Given the description of an element on the screen output the (x, y) to click on. 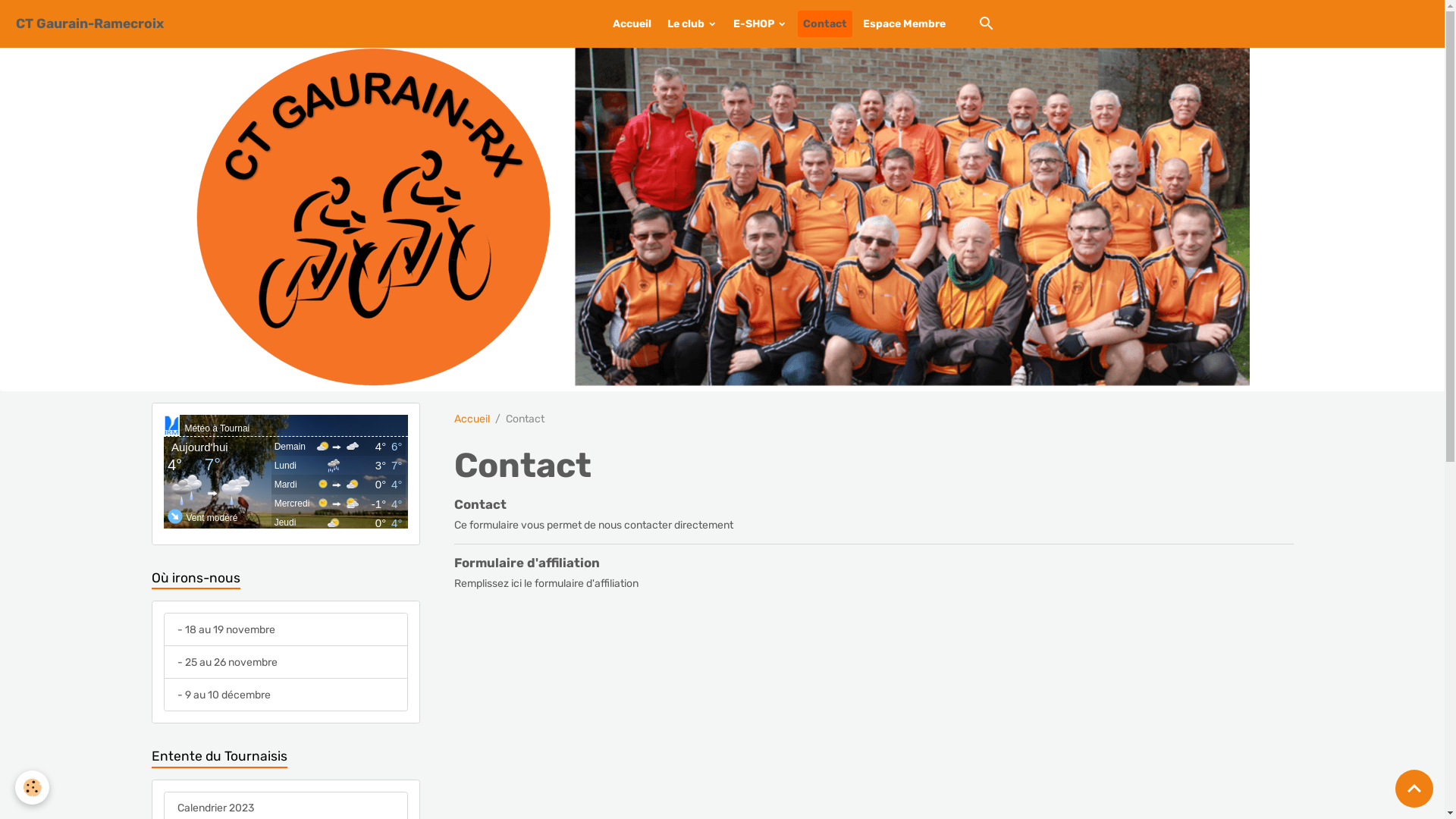
- 25 au 26 novembre Element type: text (285, 661)
Formulaire d'affiliation Element type: text (526, 562)
Accueil Element type: text (471, 418)
Entente du Tournaisis Element type: text (285, 756)
CT Gaurain-Ramecroix Element type: text (89, 23)
Espace Membre Element type: text (903, 23)
Contact Element type: text (824, 23)
Contact Element type: text (479, 503)
Accueil Element type: text (631, 23)
- 18 au 19 novembre Element type: text (285, 629)
E-SHOP Element type: text (760, 23)
Le club Element type: text (692, 23)
